Given the description of an element on the screen output the (x, y) to click on. 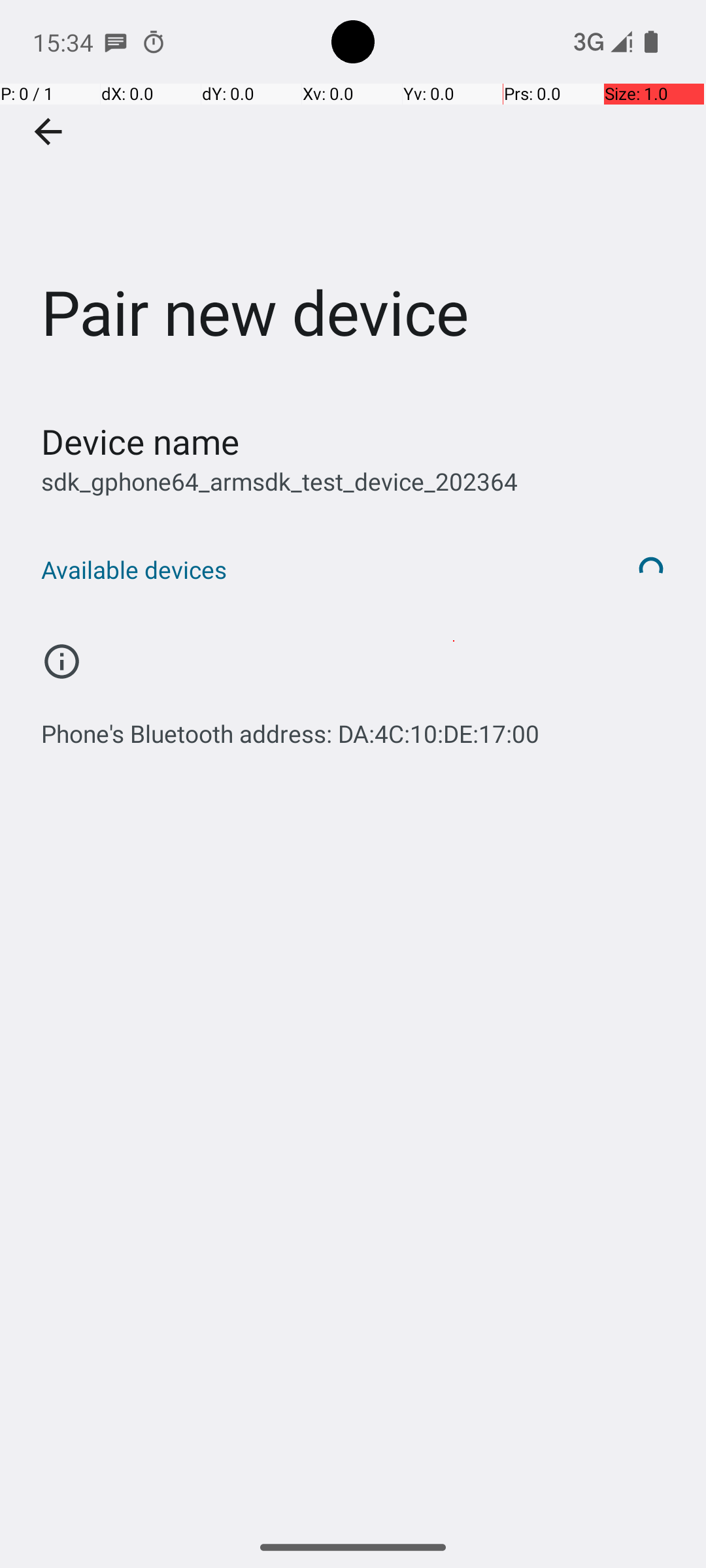
sdk_gphone64_armsdk_test_device_202364 Element type: android.widget.TextView (279, 480)
